Given the description of an element on the screen output the (x, y) to click on. 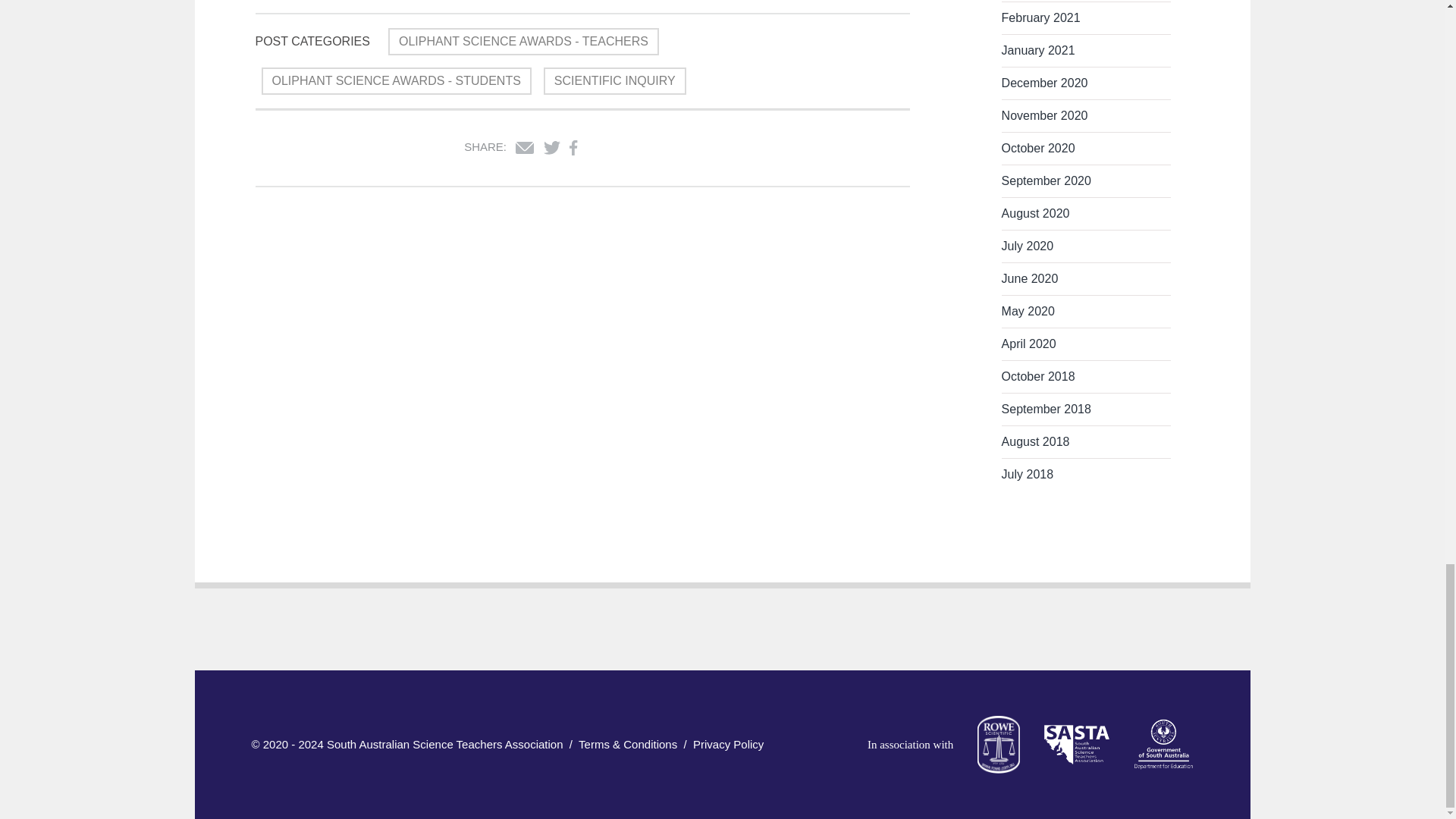
OLIPHANT SCIENCE AWARDS - STUDENTS (395, 81)
SCIENTIFIC INQUIRY (614, 81)
OLIPHANT SCIENCE AWARDS - TEACHERS (523, 41)
